Given the description of an element on the screen output the (x, y) to click on. 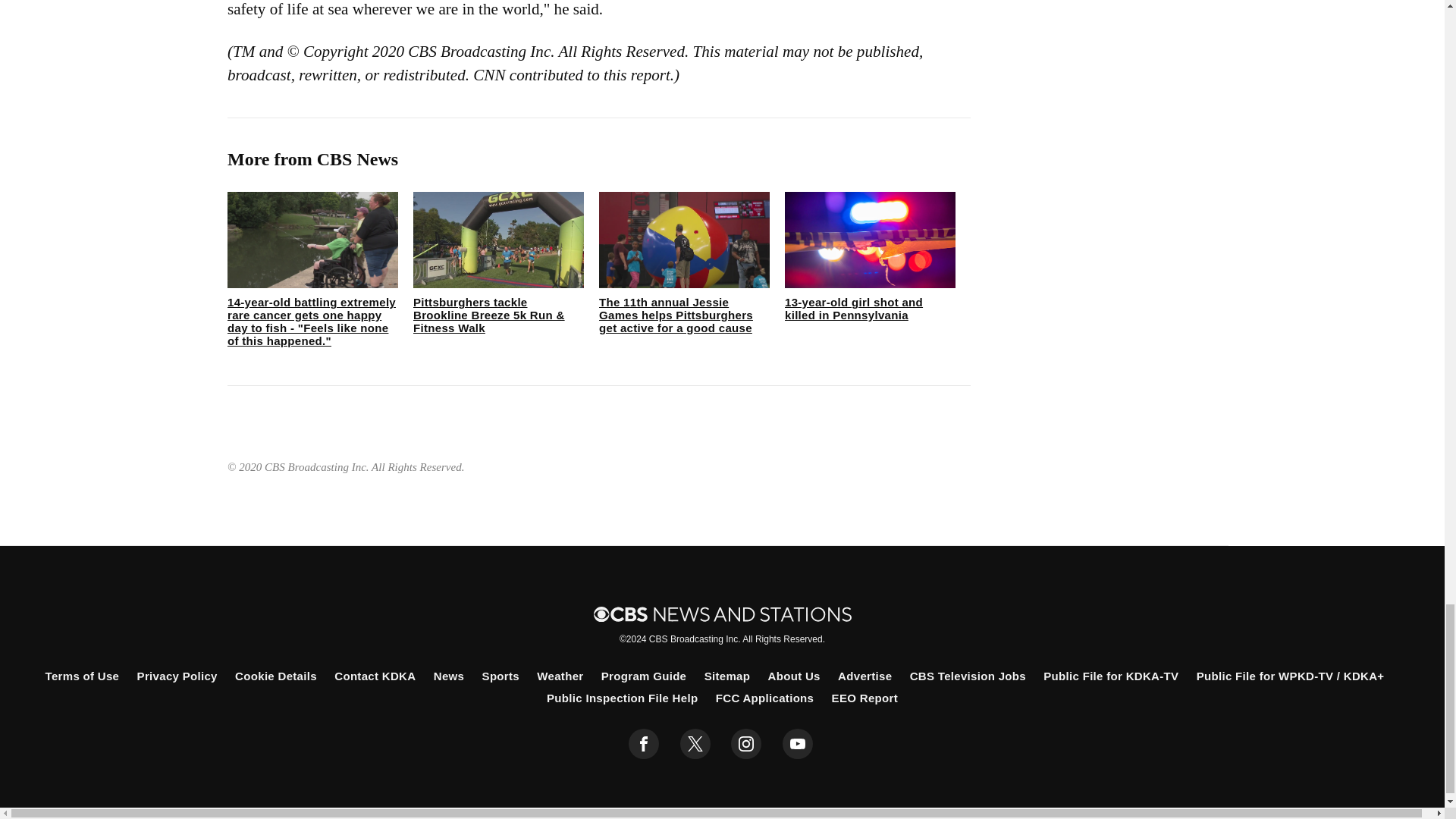
instagram (745, 743)
youtube (797, 743)
facebook (643, 743)
twitter (694, 743)
